Given the description of an element on the screen output the (x, y) to click on. 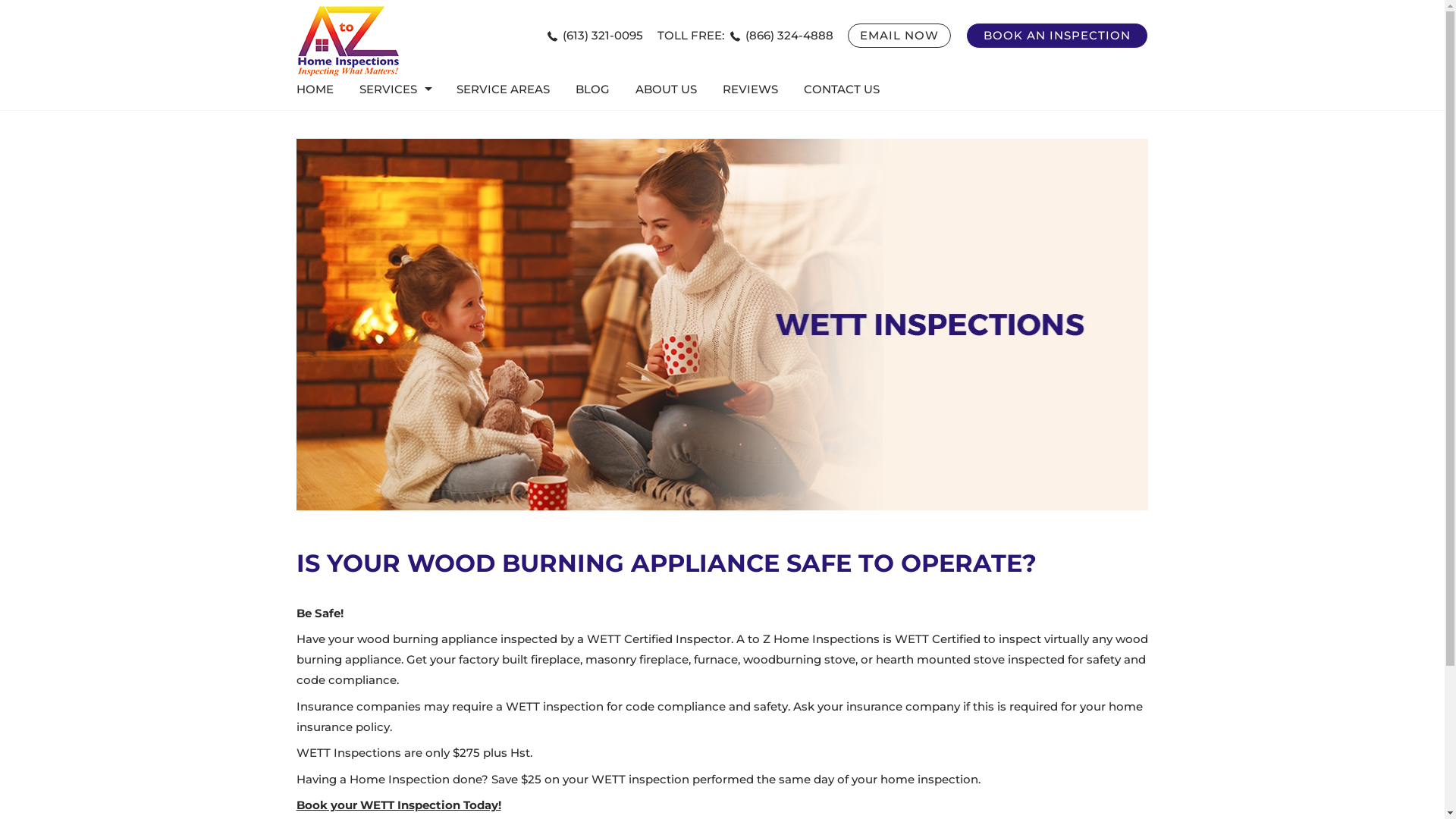
SERVICES Element type: text (394, 88)
EMAIL NOW Element type: text (898, 35)
REVIEWS Element type: text (749, 88)
BOOK AN INSPECTION Element type: text (1057, 35)
ABOUT US Element type: text (665, 88)
(866) 324-4888 Element type: text (781, 35)
(613) 321-0095 Element type: text (595, 35)
SERVICE AREAS Element type: text (502, 88)
Book your WETT Inspection Today! Element type: text (398, 804)
CONTACT US Element type: text (841, 88)
BLOG Element type: text (592, 88)
HOME Element type: text (321, 88)
